Given the description of an element on the screen output the (x, y) to click on. 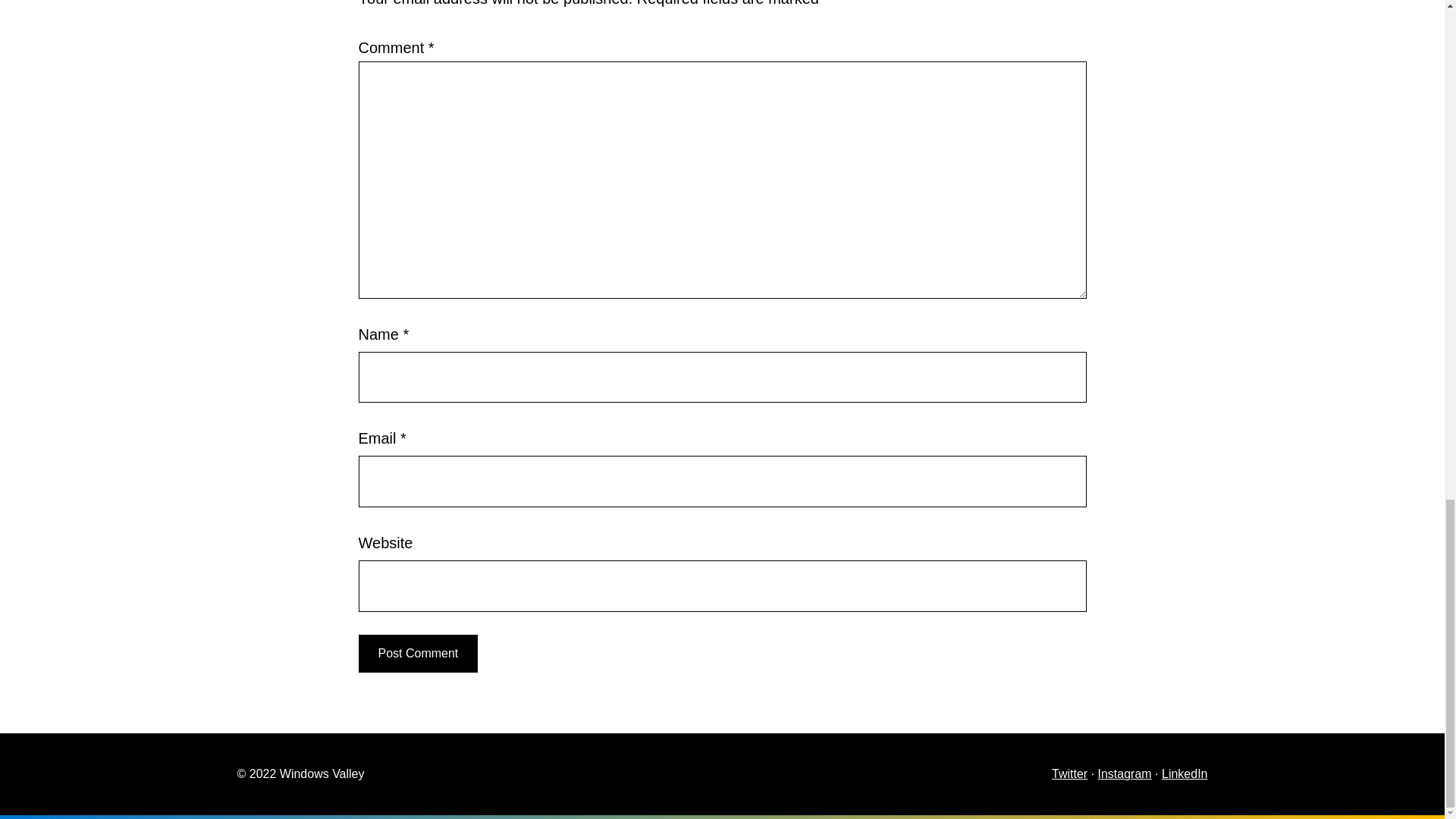
Instagram (1124, 773)
Post Comment (417, 653)
LinkedIn (1184, 773)
Post Comment (417, 653)
Twitter (1069, 773)
